Given the description of an element on the screen output the (x, y) to click on. 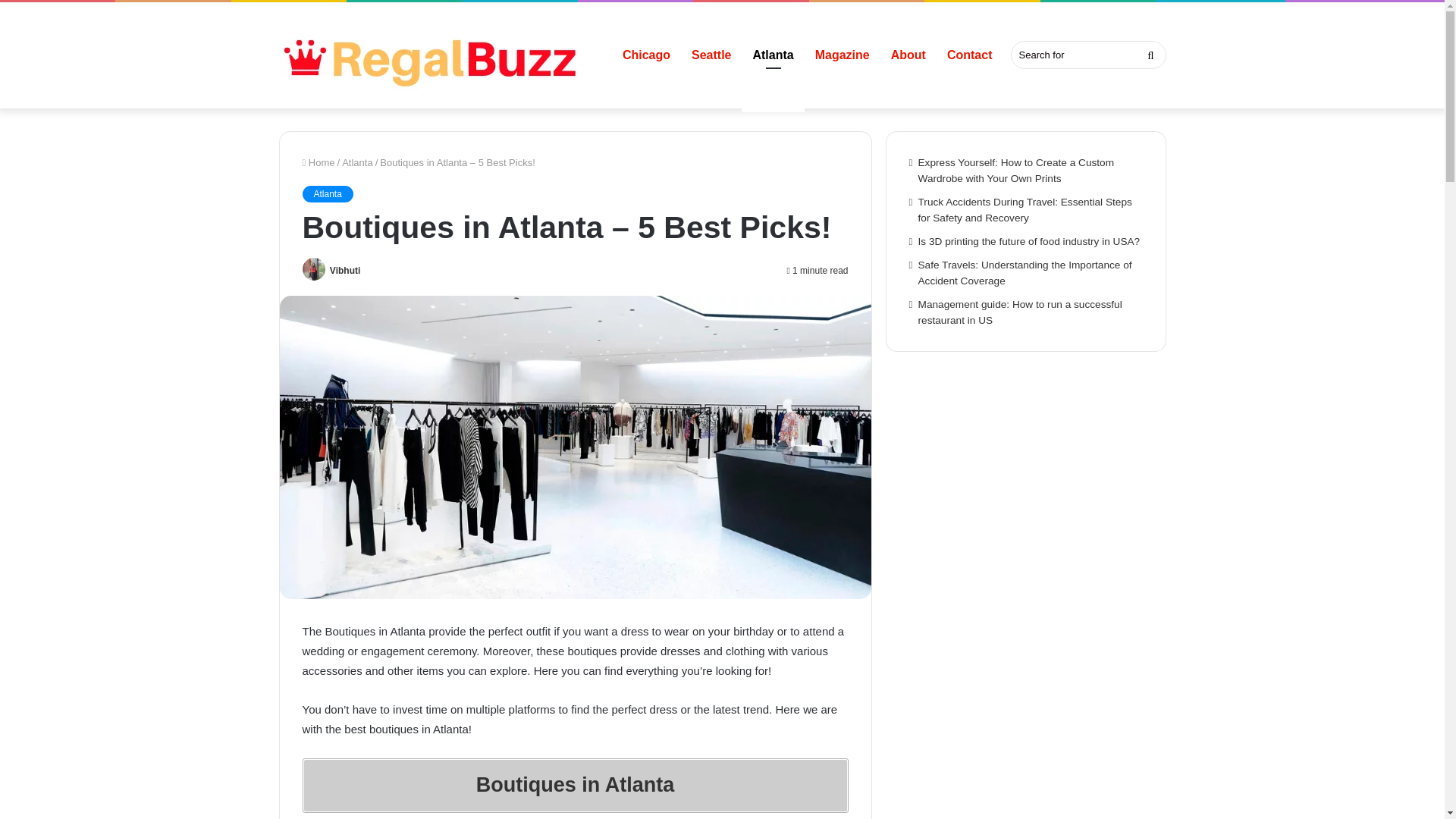
Atlanta (326, 193)
Vibhuti (344, 270)
Vibhuti (344, 270)
Regal Buzz (430, 55)
Home (317, 162)
Atlanta (357, 162)
Search for (1088, 54)
